Given the description of an element on the screen output the (x, y) to click on. 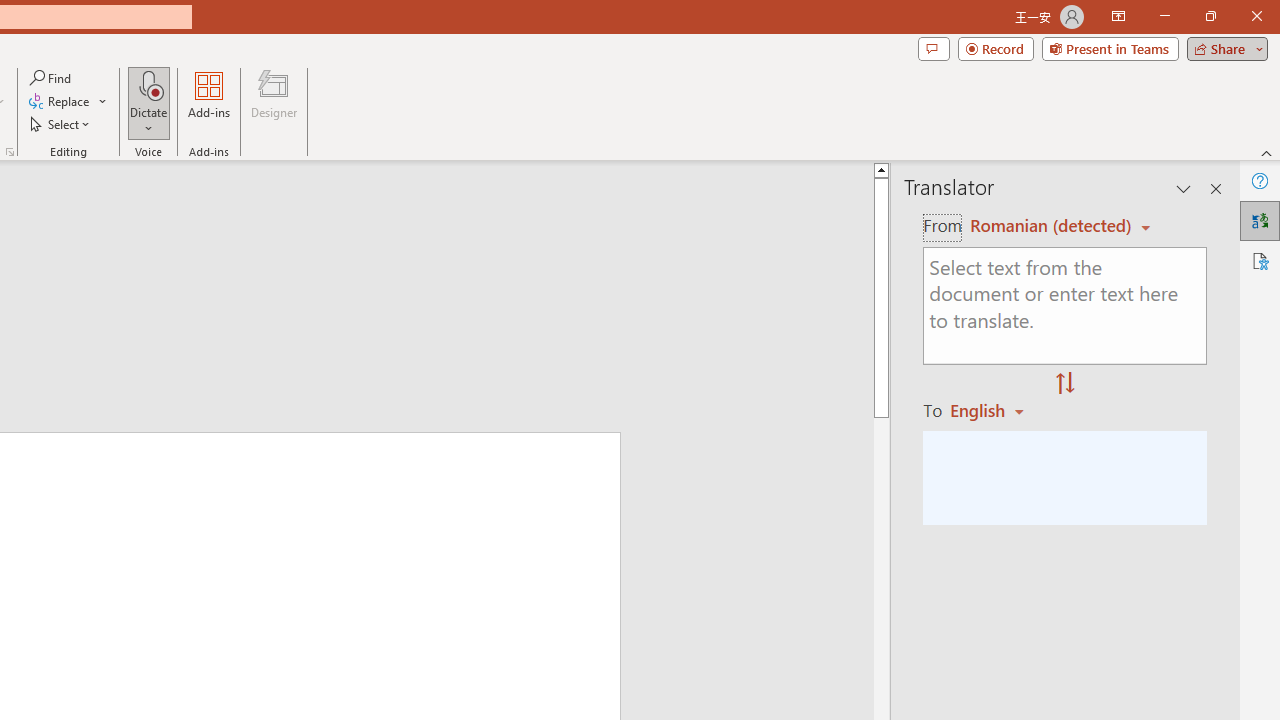
Romanian (994, 409)
Designer (274, 102)
Close pane (1215, 188)
Replace... (68, 101)
Dictate (149, 84)
Replace... (60, 101)
Accessibility (1260, 260)
Task Pane Options (1183, 188)
